Given the description of an element on the screen output the (x, y) to click on. 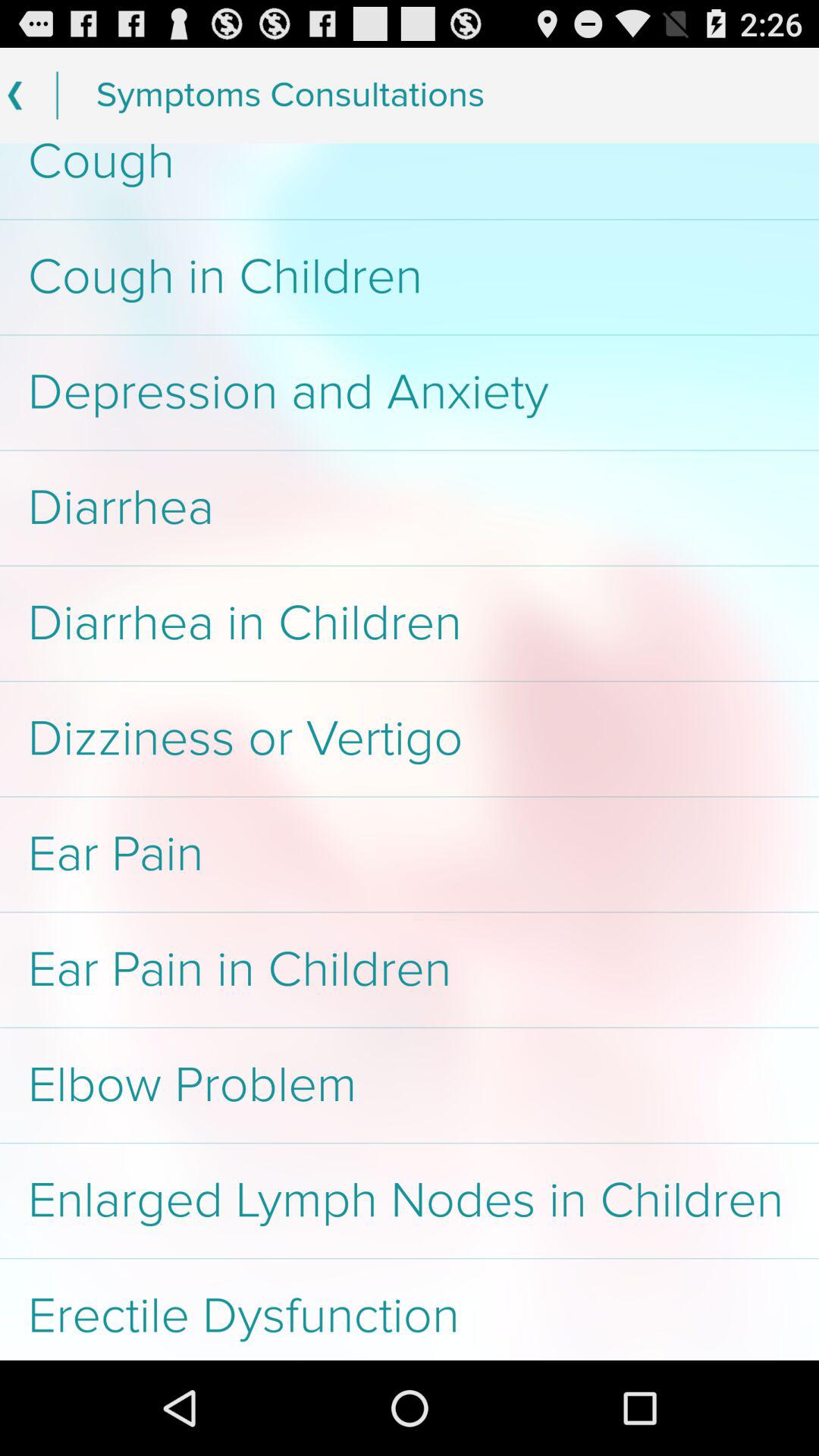
choose erectile dysfunction app (409, 1309)
